Given the description of an element on the screen output the (x, y) to click on. 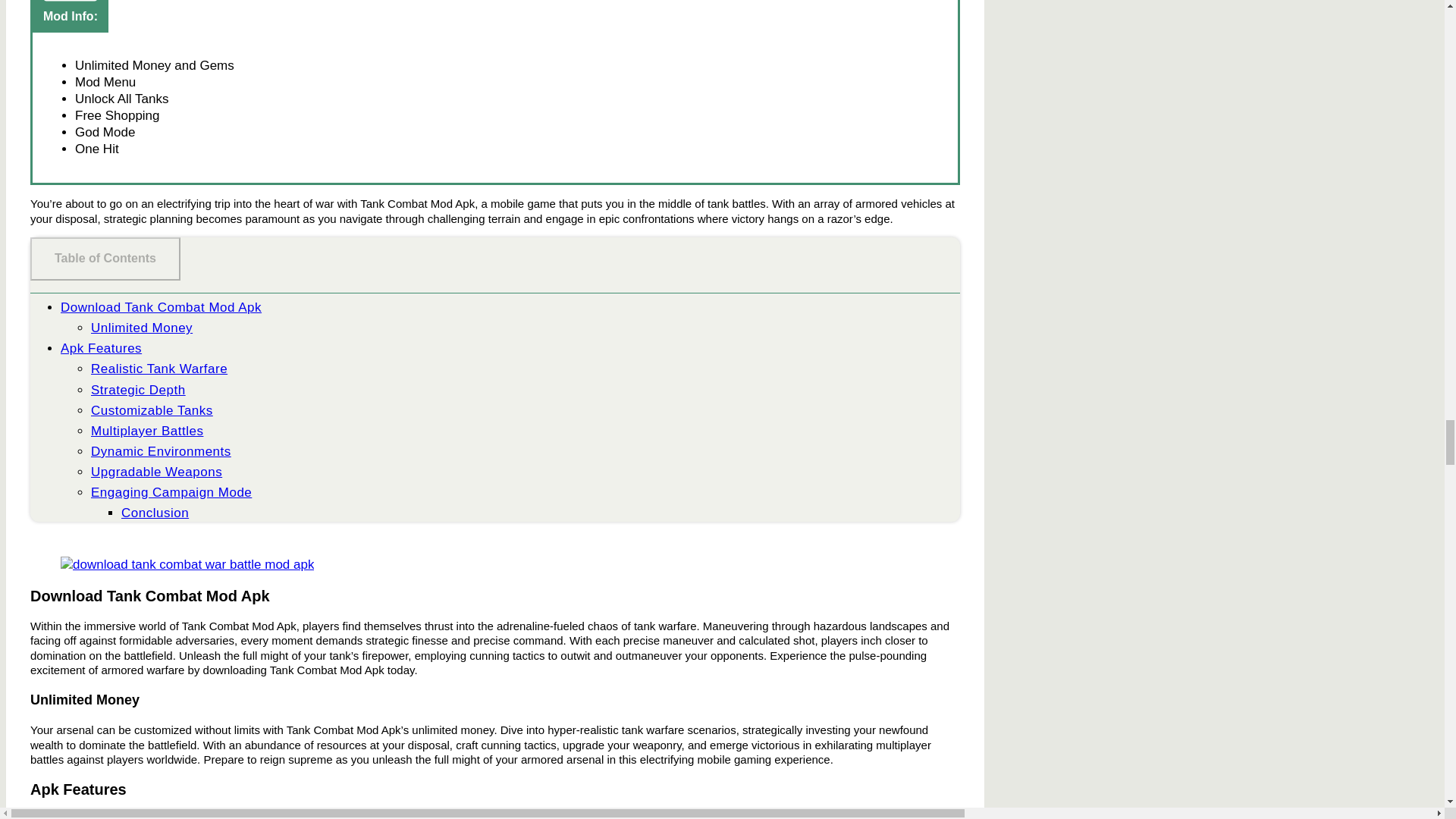
Strategic Depth (138, 389)
Upgradable Weapons (156, 472)
Apk Features (101, 348)
Customizable Tanks (151, 410)
Unlimited Money (141, 327)
Mod Info: (69, 16)
Multiplayer Battles (146, 431)
Conclusion (154, 513)
Dynamic Environments (160, 451)
Engaging Campaign Mode (170, 492)
